Given the description of an element on the screen output the (x, y) to click on. 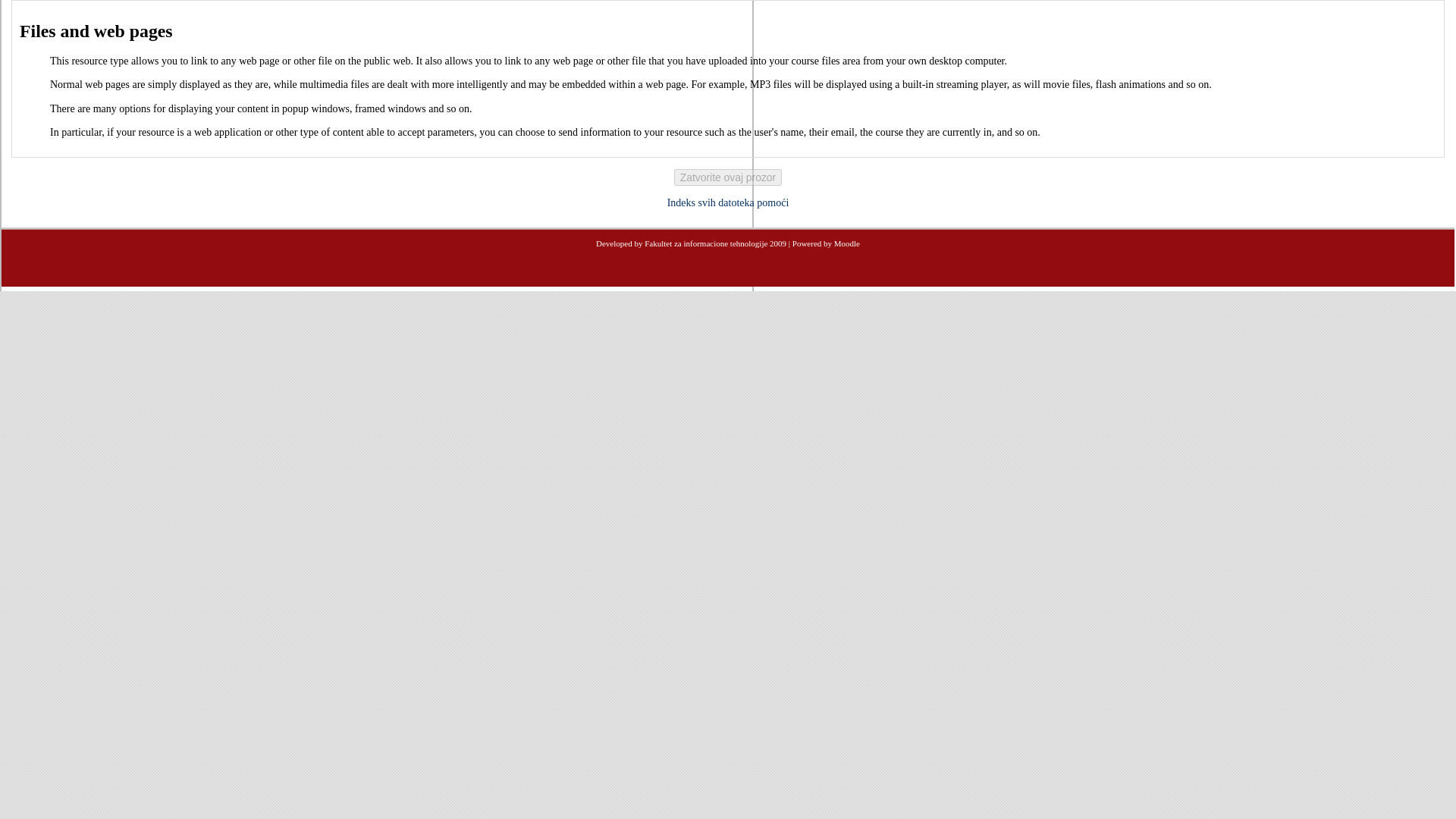
Zatvorite ovaj prozor (727, 176)
